Given the description of an element on the screen output the (x, y) to click on. 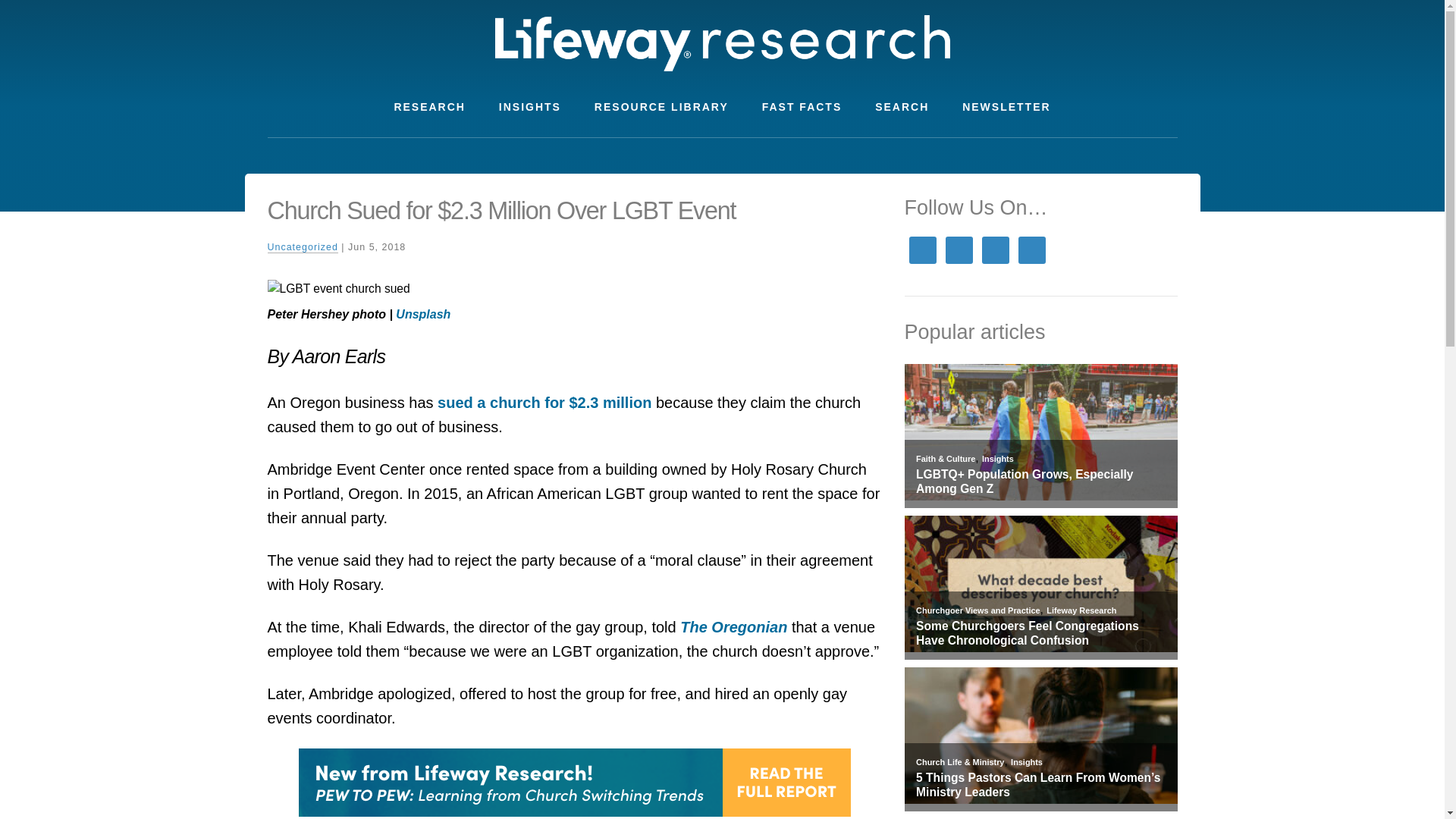
NEWSLETTER (1006, 106)
SEARCH (901, 106)
The Oregonian (733, 627)
Uncategorized (301, 247)
Insights (997, 458)
RESOURCE LIBRARY (661, 106)
INSIGHTS (529, 106)
Churchgoer Views and Practice (977, 610)
